Given the description of an element on the screen output the (x, y) to click on. 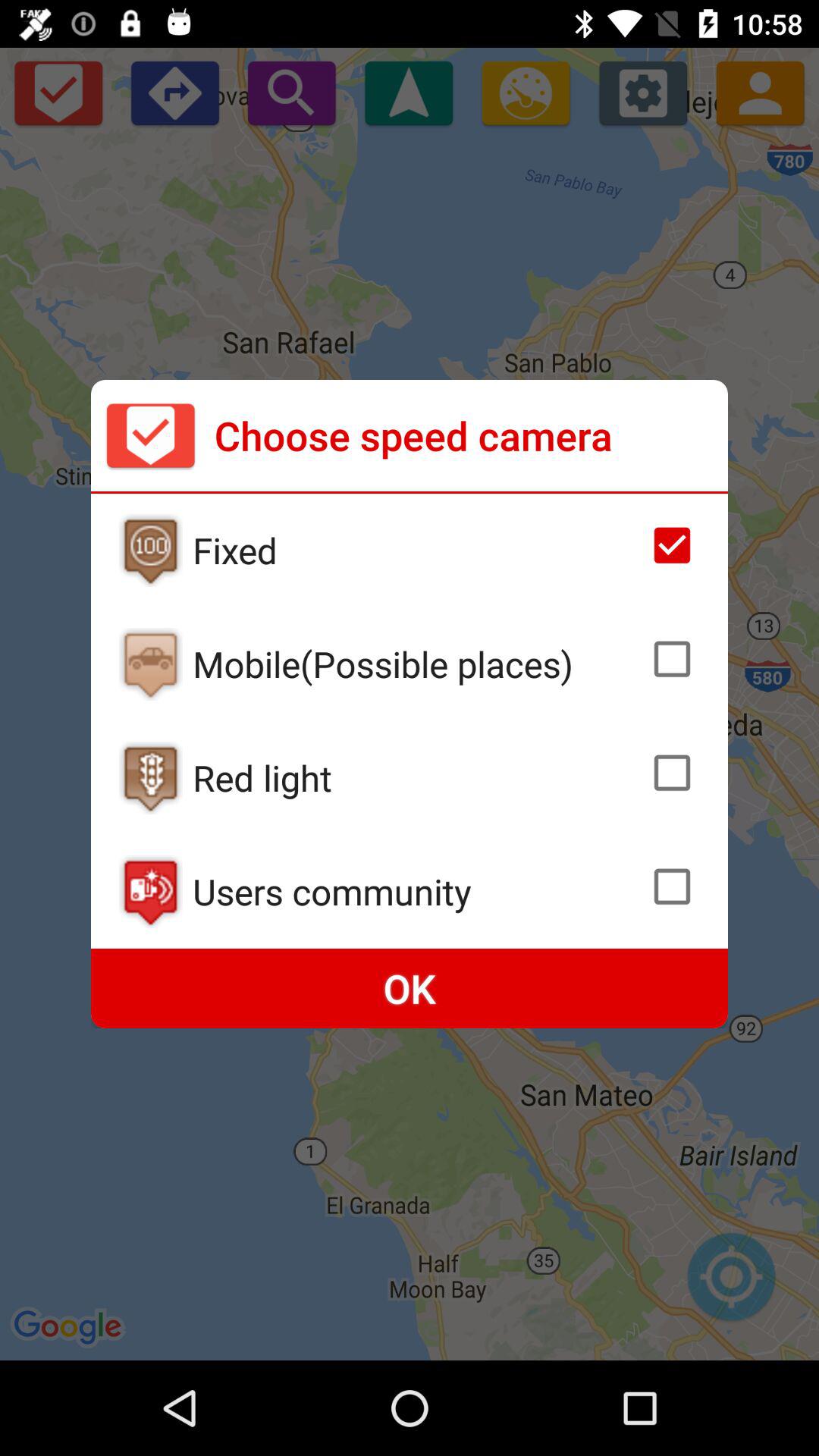
swipe until ok icon (409, 988)
